Given the description of an element on the screen output the (x, y) to click on. 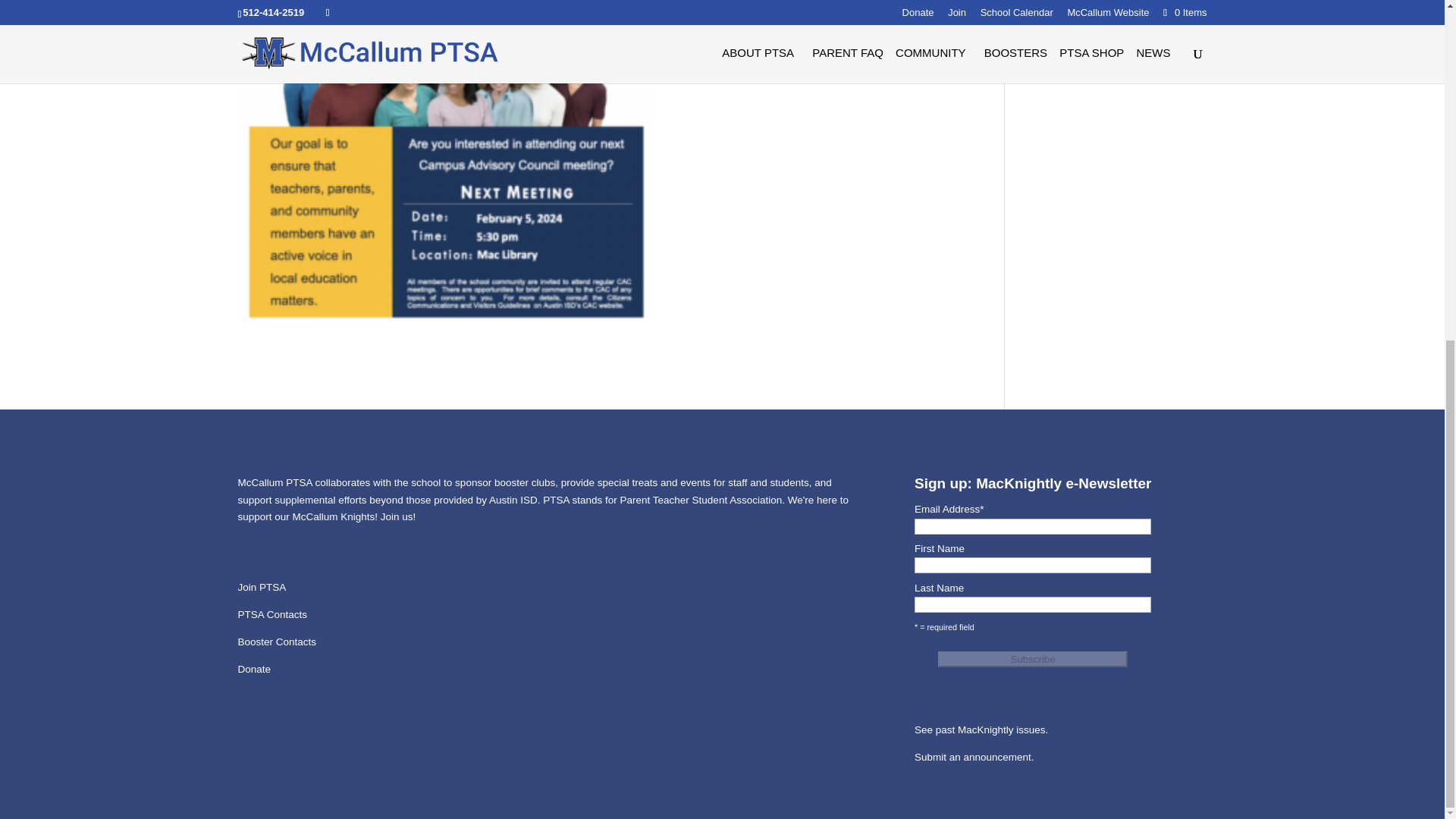
Booster Contacts (277, 641)
Subscribe (1031, 659)
Join PTSA (262, 586)
PTSA Contacts (272, 614)
